Given the description of an element on the screen output the (x, y) to click on. 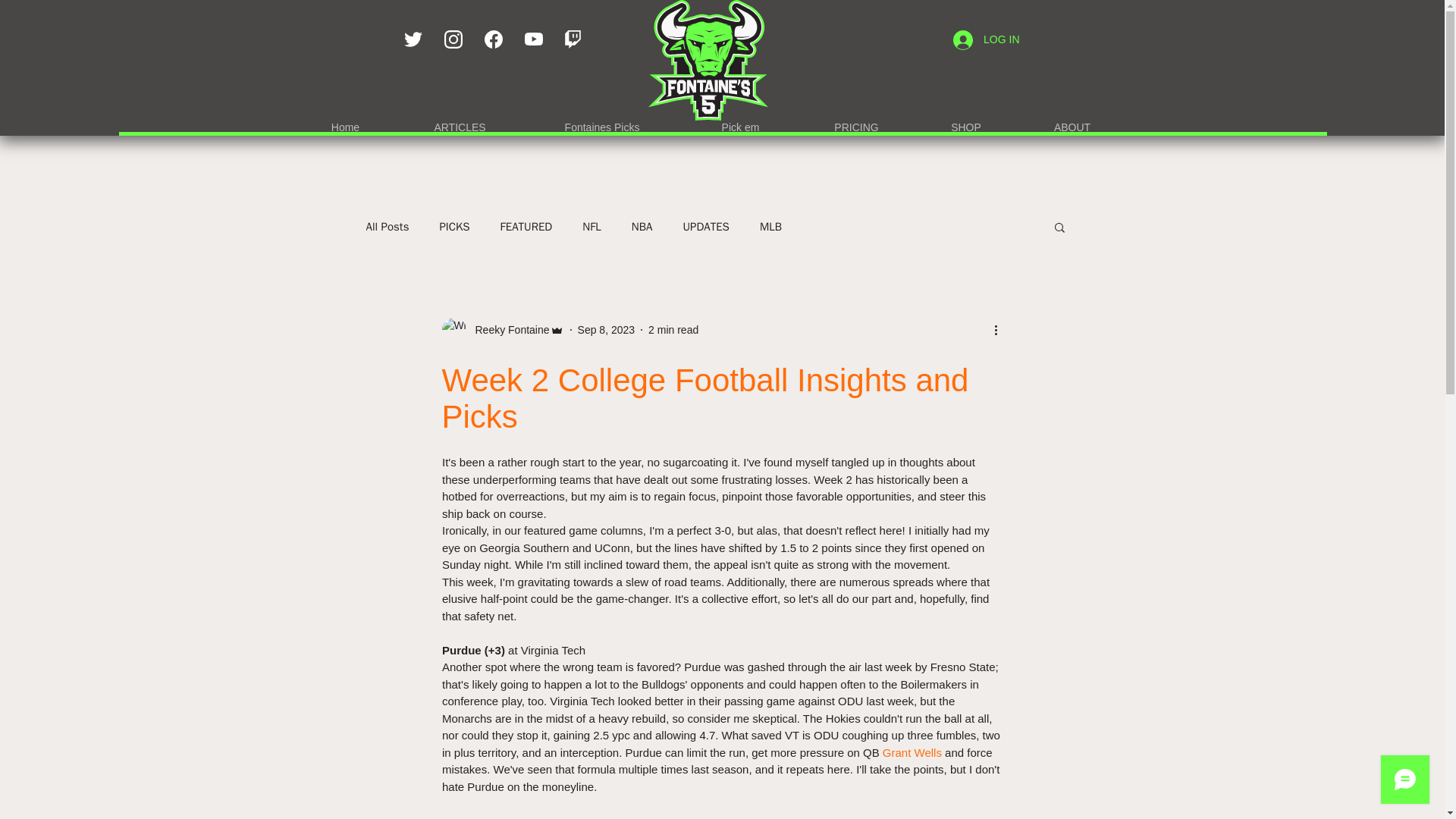
Sep 8, 2023 (606, 328)
Reeky Fontaine (506, 329)
UPDATES (705, 227)
FEATURED (526, 227)
All Posts (387, 227)
ABOUT (1071, 120)
Home (345, 120)
2 min read (672, 328)
LOG IN (985, 39)
ARTICLES (459, 120)
Reeky Fontaine (502, 329)
Grant Wells (911, 752)
NBA (641, 227)
Fontaines Picks (601, 120)
PICKS (453, 227)
